Given the description of an element on the screen output the (x, y) to click on. 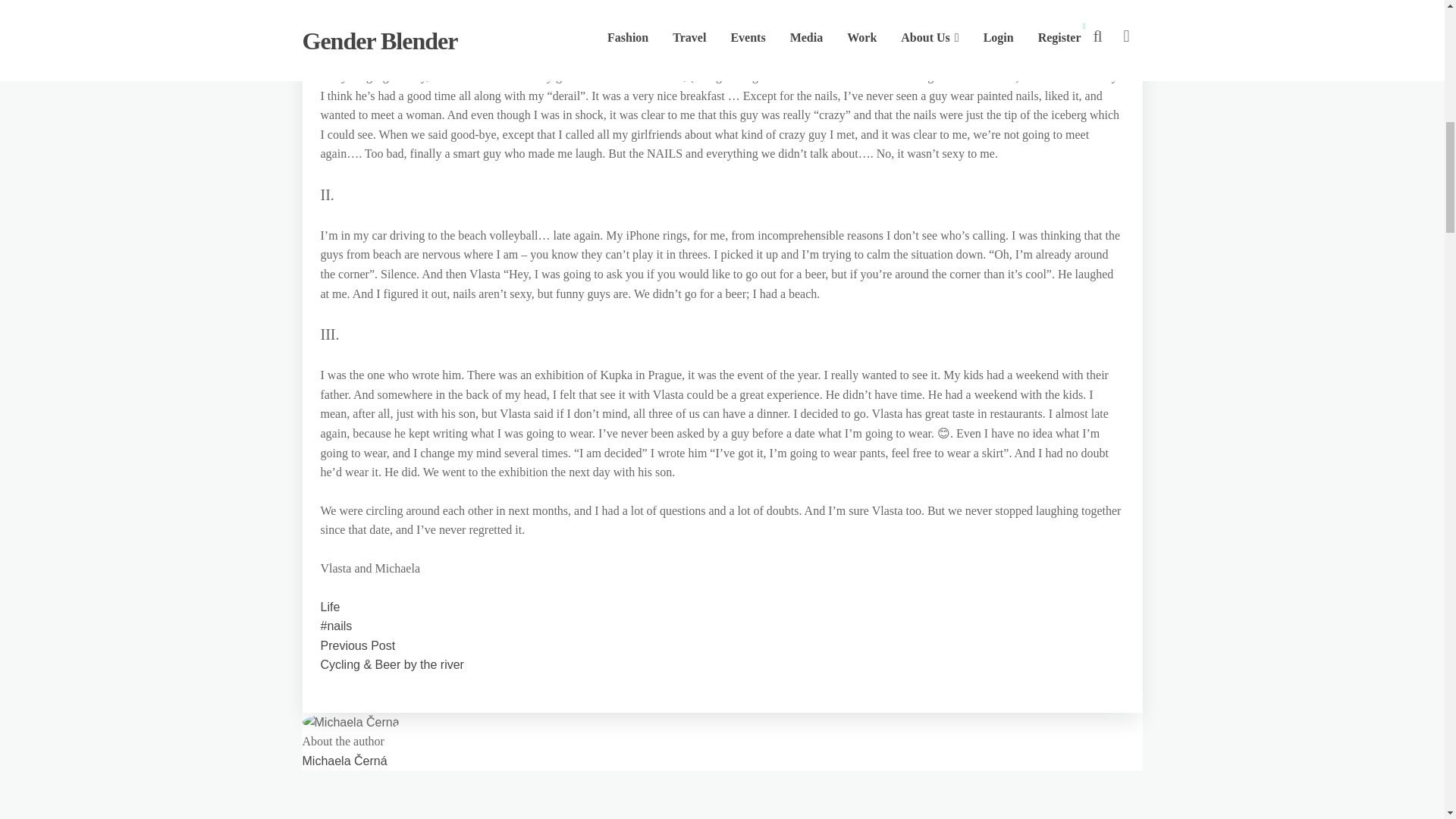
Life (329, 606)
Previous Post (357, 645)
